Given the description of an element on the screen output the (x, y) to click on. 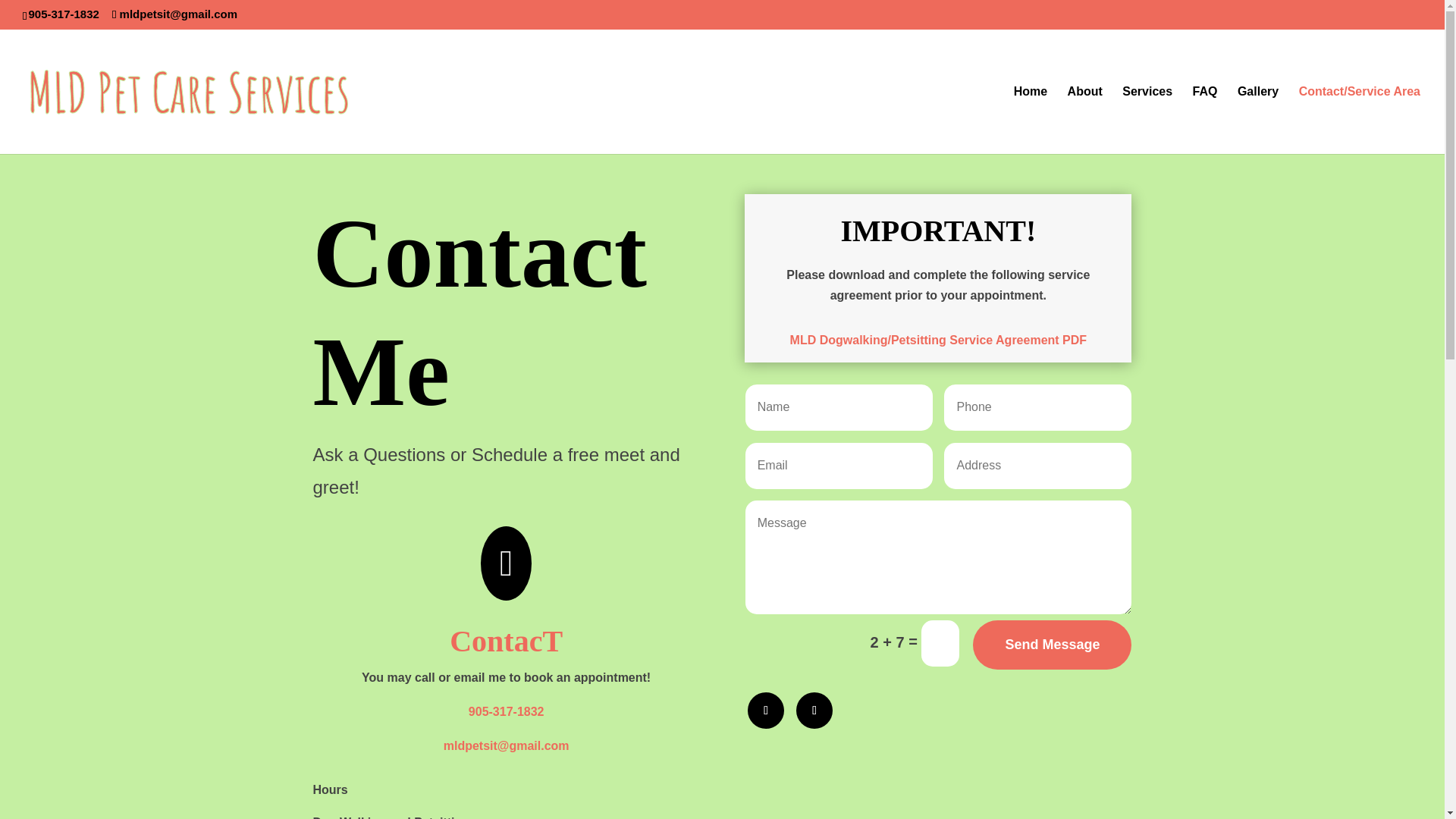
Send Message (1051, 644)
Follow on Facebook (766, 710)
Follow on Instagram (814, 710)
905-317-1832 (506, 711)
